Given the description of an element on the screen output the (x, y) to click on. 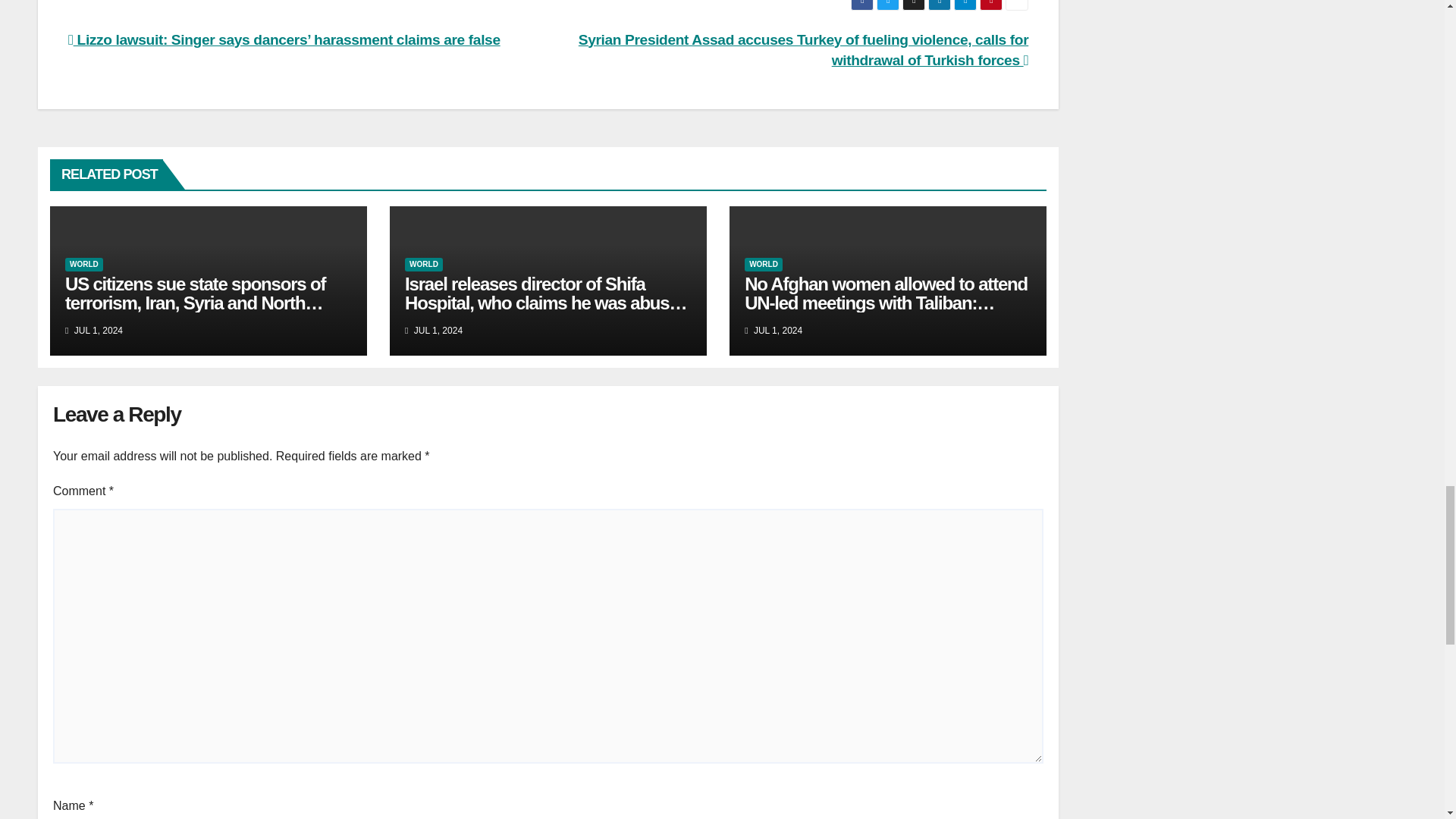
WORLD (423, 264)
WORLD (84, 264)
WORLD (763, 264)
